Given the description of an element on the screen output the (x, y) to click on. 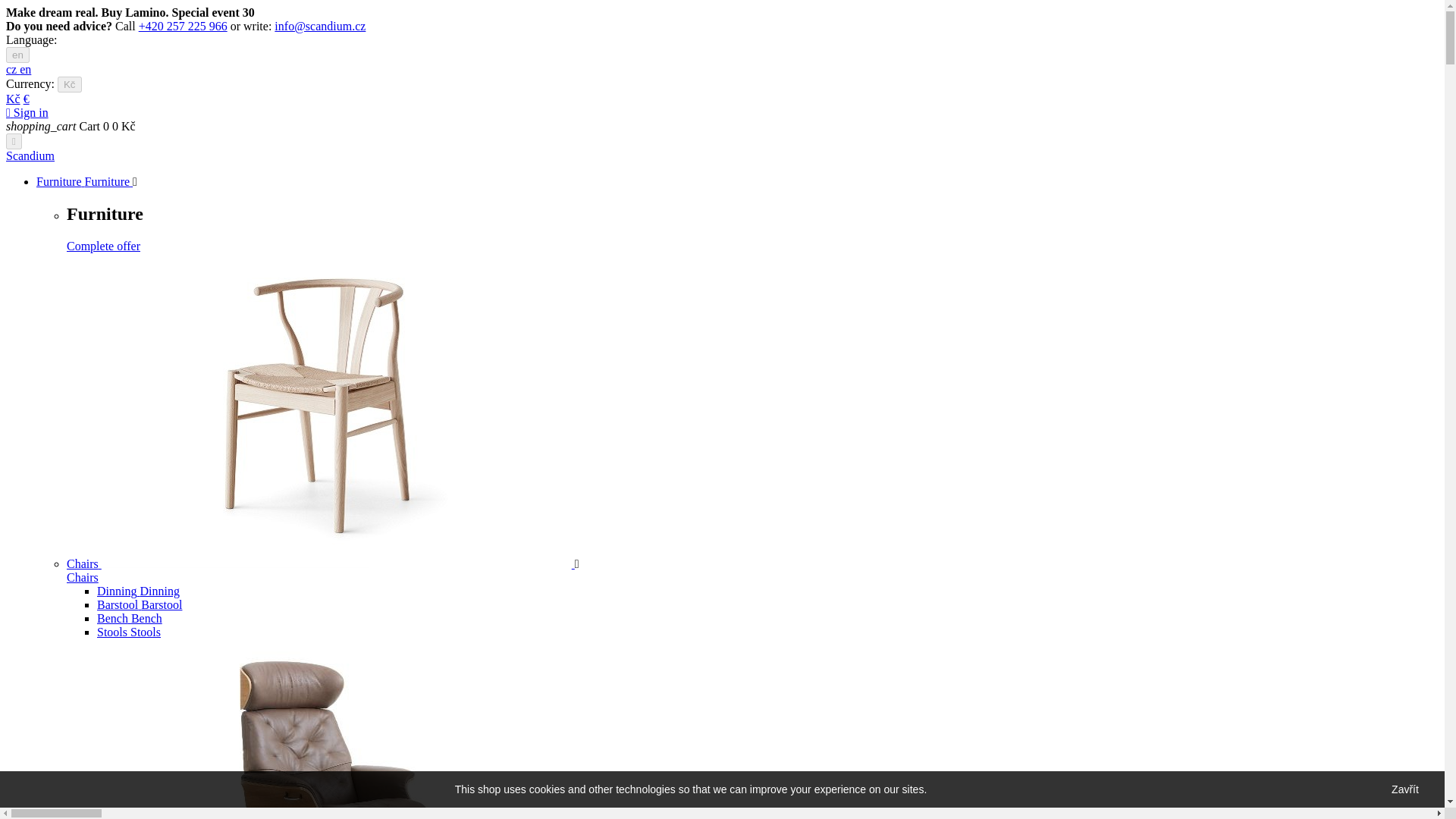
Barstool Barstool (139, 604)
Stools Stools (128, 631)
Czech Koruna (12, 98)
cz (12, 69)
Scandium (30, 155)
en (17, 54)
Chairs (82, 576)
Log in to your customer account (26, 112)
en (25, 69)
Furniture Furniture (84, 181)
Chairs (320, 563)
Bench Bench (129, 617)
Complete offer (102, 245)
Euro (26, 98)
Dinning Dinning (138, 590)
